Given the description of an element on the screen output the (x, y) to click on. 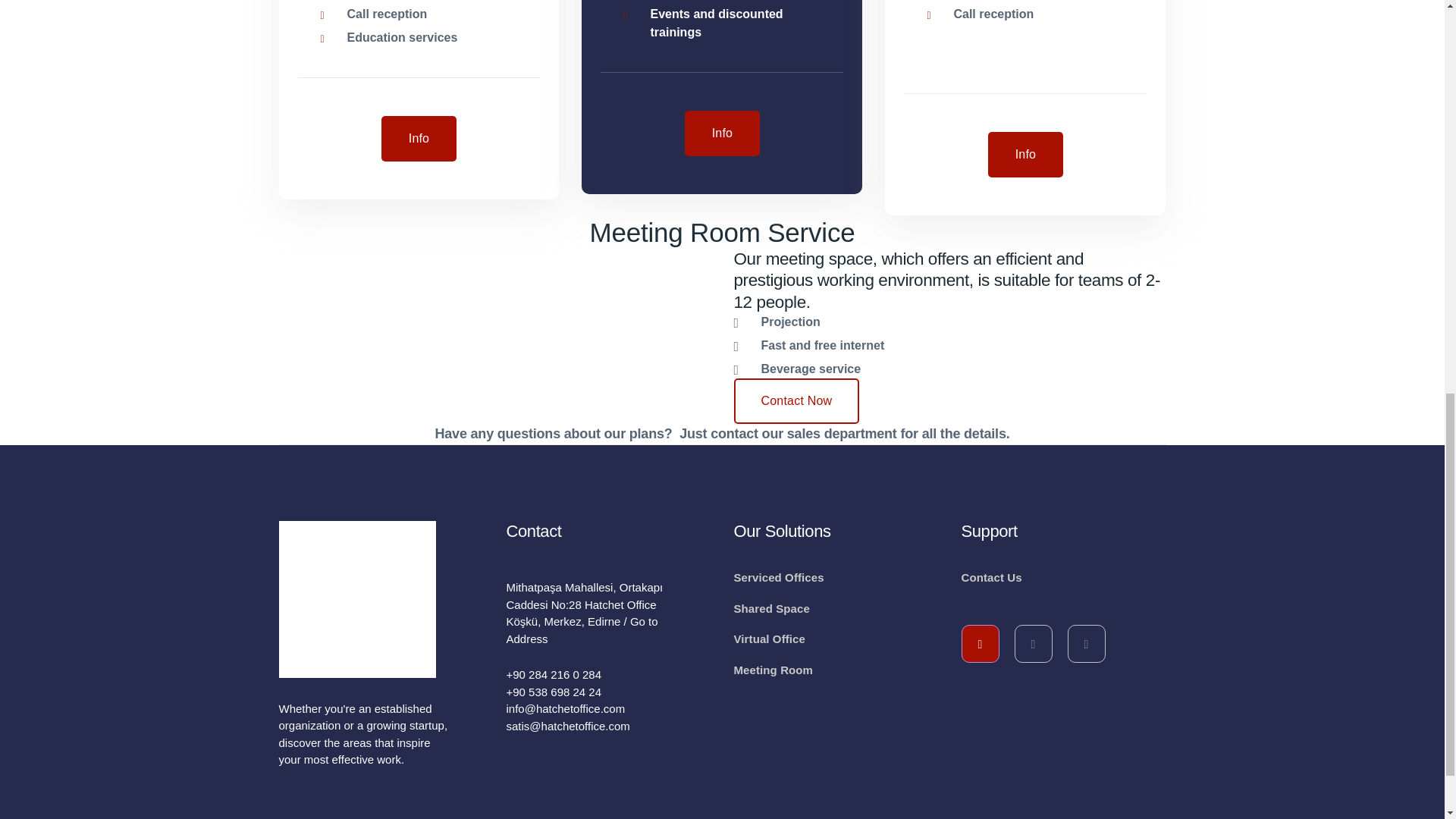
Info (419, 137)
instagram (1086, 643)
Contact Us (991, 578)
Go to Address (582, 630)
facebook-f (979, 643)
Info (722, 133)
linkedin (1033, 643)
Contact Now (796, 401)
Meeting Room (773, 670)
"SharedSpace" (722, 133)
